Given the description of an element on the screen output the (x, y) to click on. 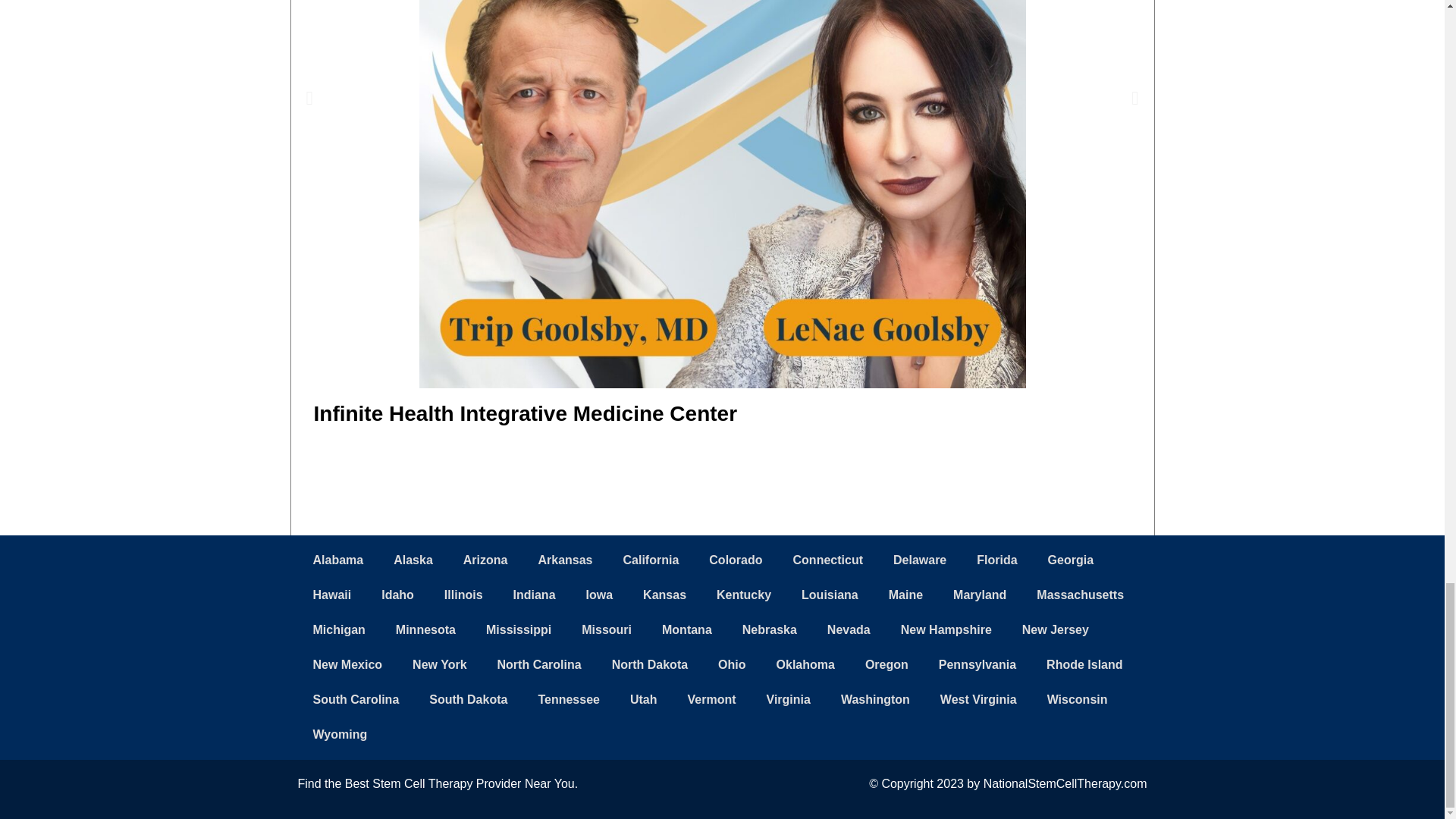
Alabama (337, 560)
Arkansas (564, 560)
Colorado (735, 560)
Connecticut (827, 560)
Arizona (485, 560)
California (651, 560)
Infinite Health Integrative Medicine Center (526, 413)
Alaska (413, 560)
Florida (996, 560)
Delaware (918, 560)
